Given the description of an element on the screen output the (x, y) to click on. 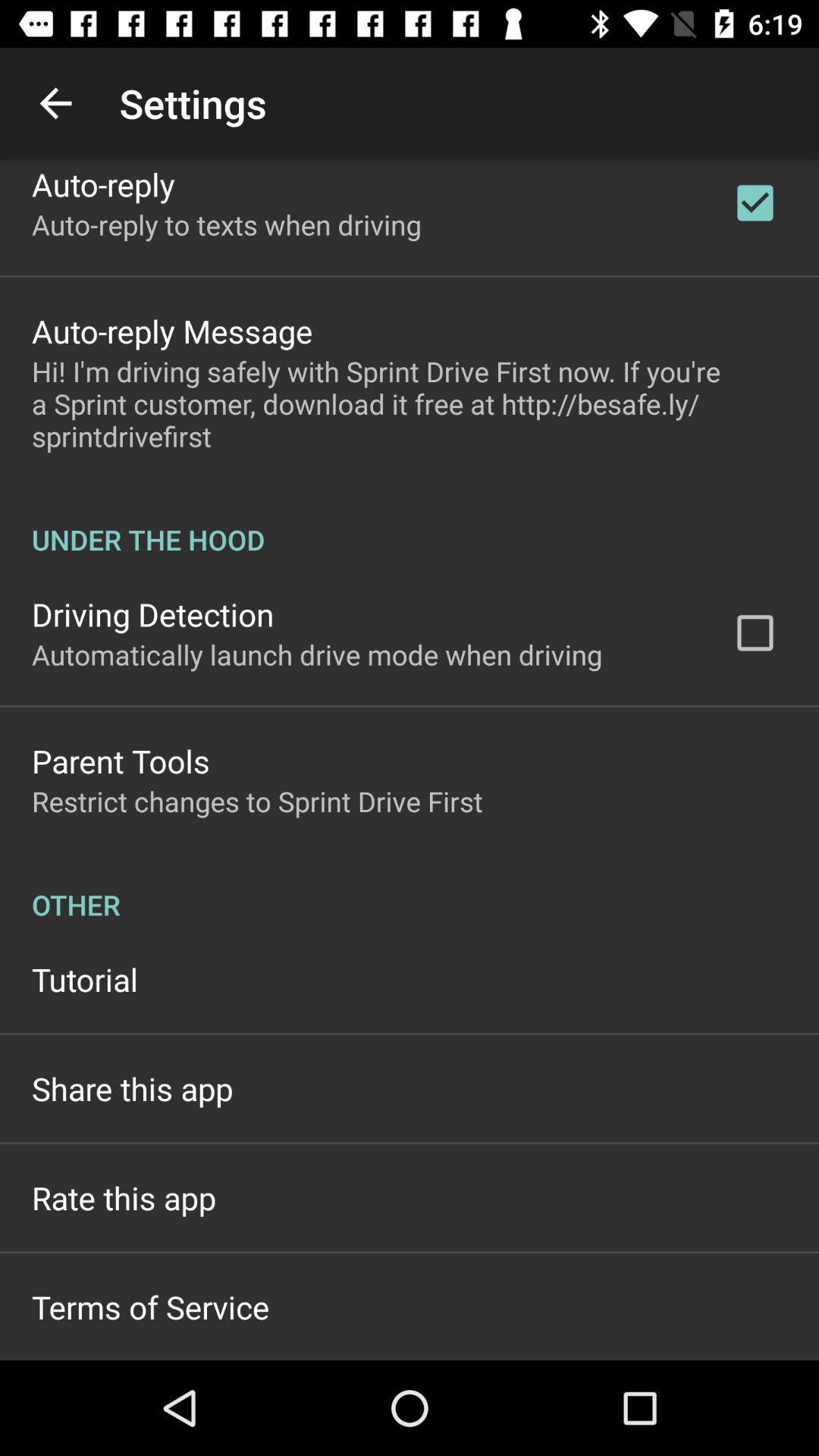
choose the restrict changes to (256, 801)
